Given the description of an element on the screen output the (x, y) to click on. 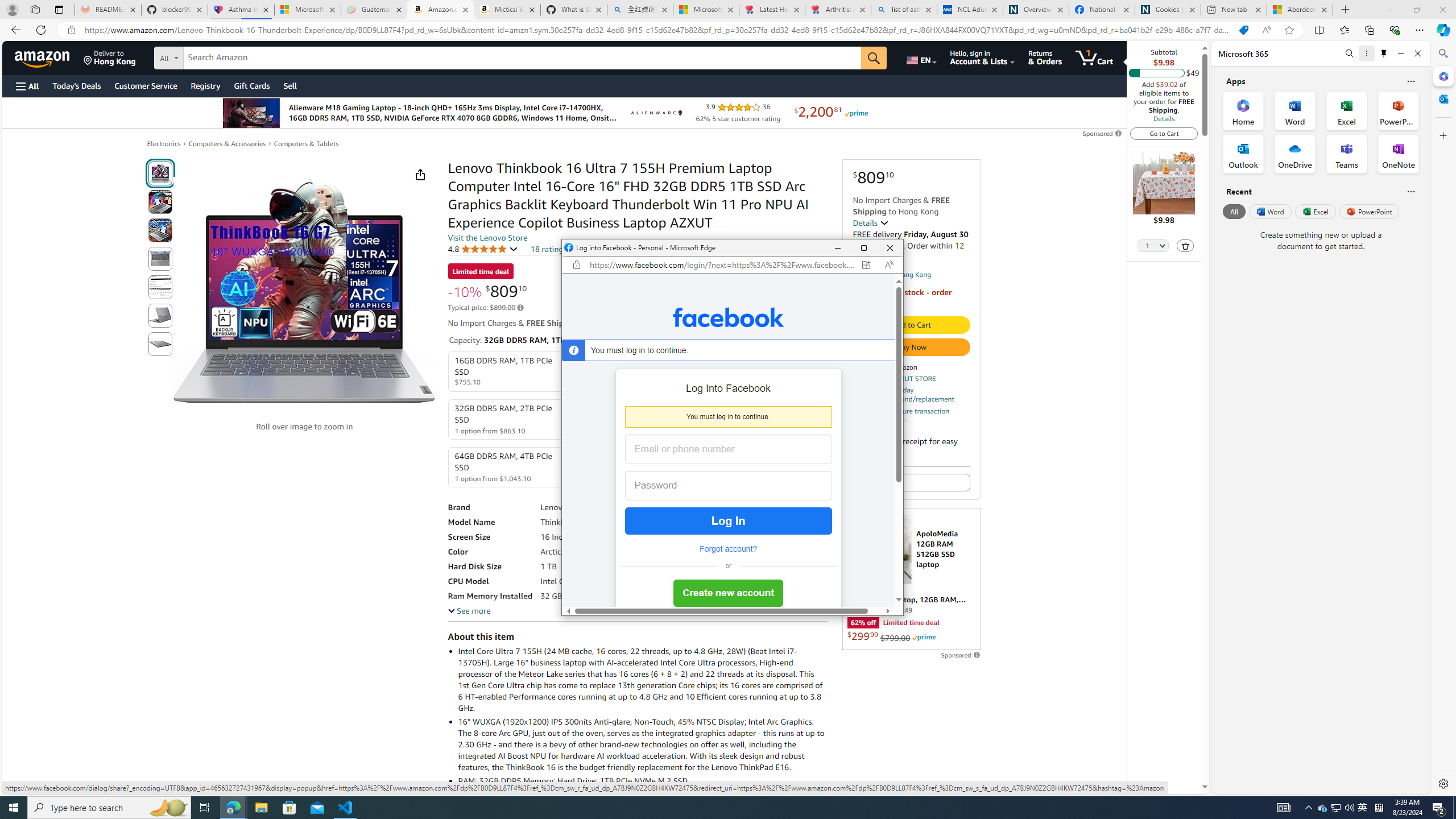
Facebook (727, 316)
Excel Office App (1346, 110)
You have the best price! (1243, 29)
Prime (923, 637)
App available. Install Facebook (865, 264)
Electronics (163, 143)
Excel (1362, 807)
